Given the description of an element on the screen output the (x, y) to click on. 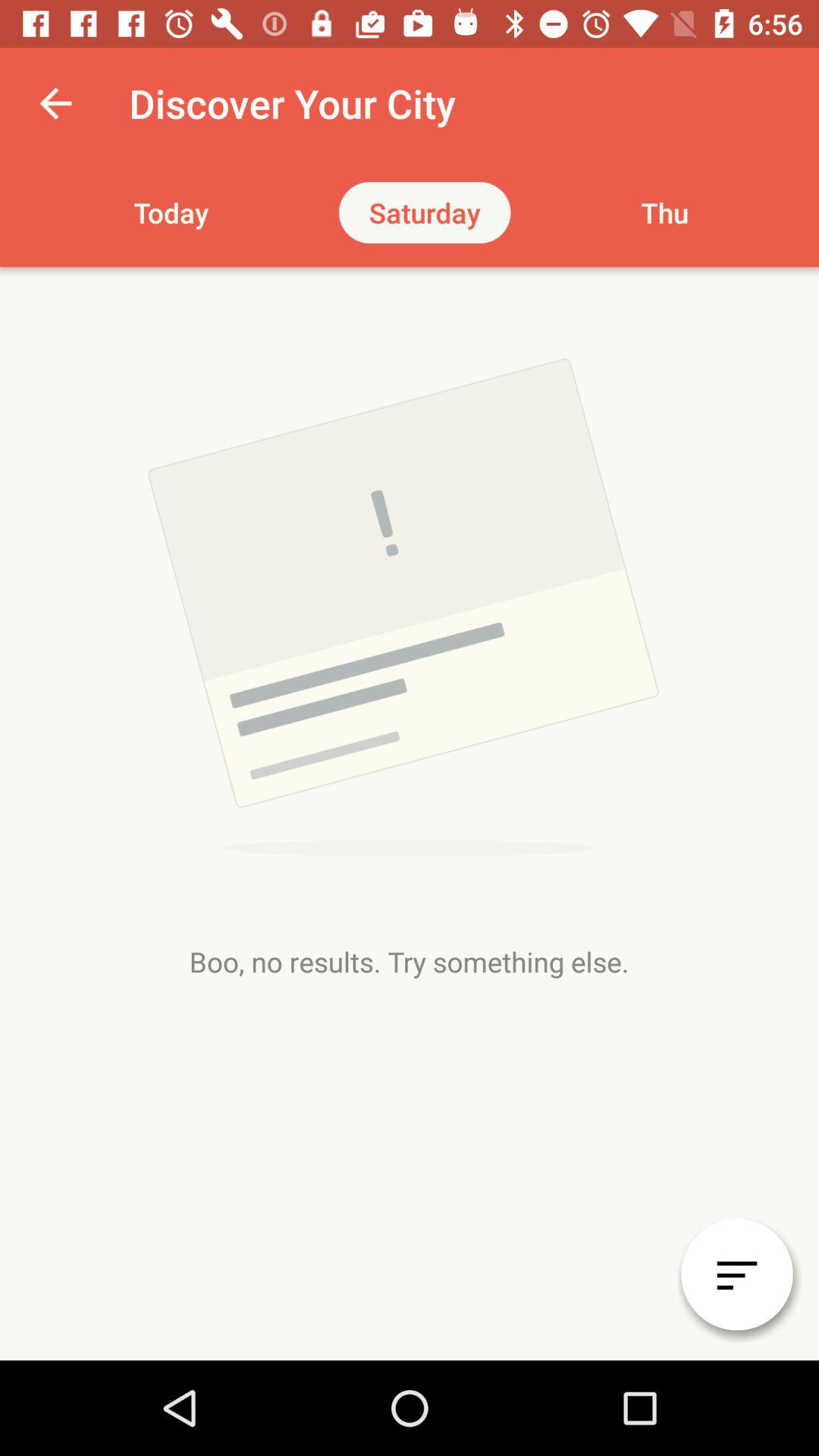
show poll results (737, 1274)
